Given the description of an element on the screen output the (x, y) to click on. 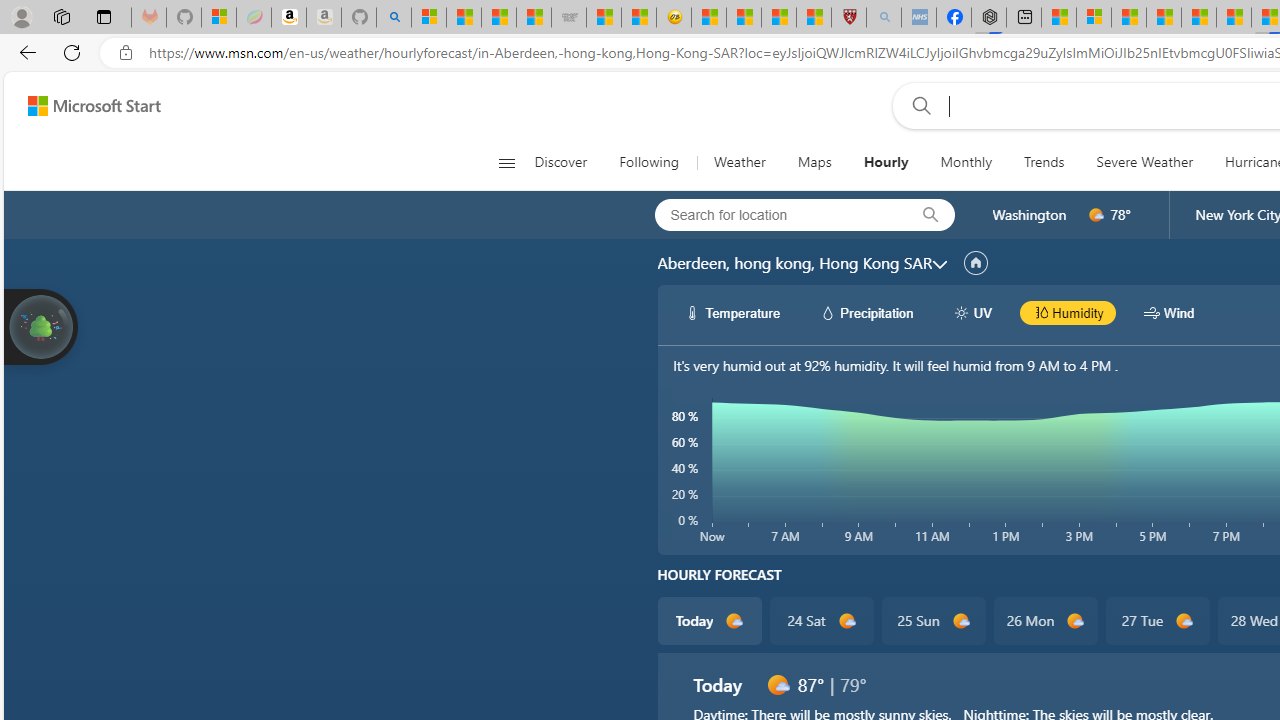
25 Sun d1000 (932, 620)
hourlyChart/temperatureWhite (692, 312)
Recipes - MSN (708, 17)
Search for location (775, 214)
hourlyChart/uvWhite UV (972, 312)
Maps (814, 162)
